Given the description of an element on the screen output the (x, y) to click on. 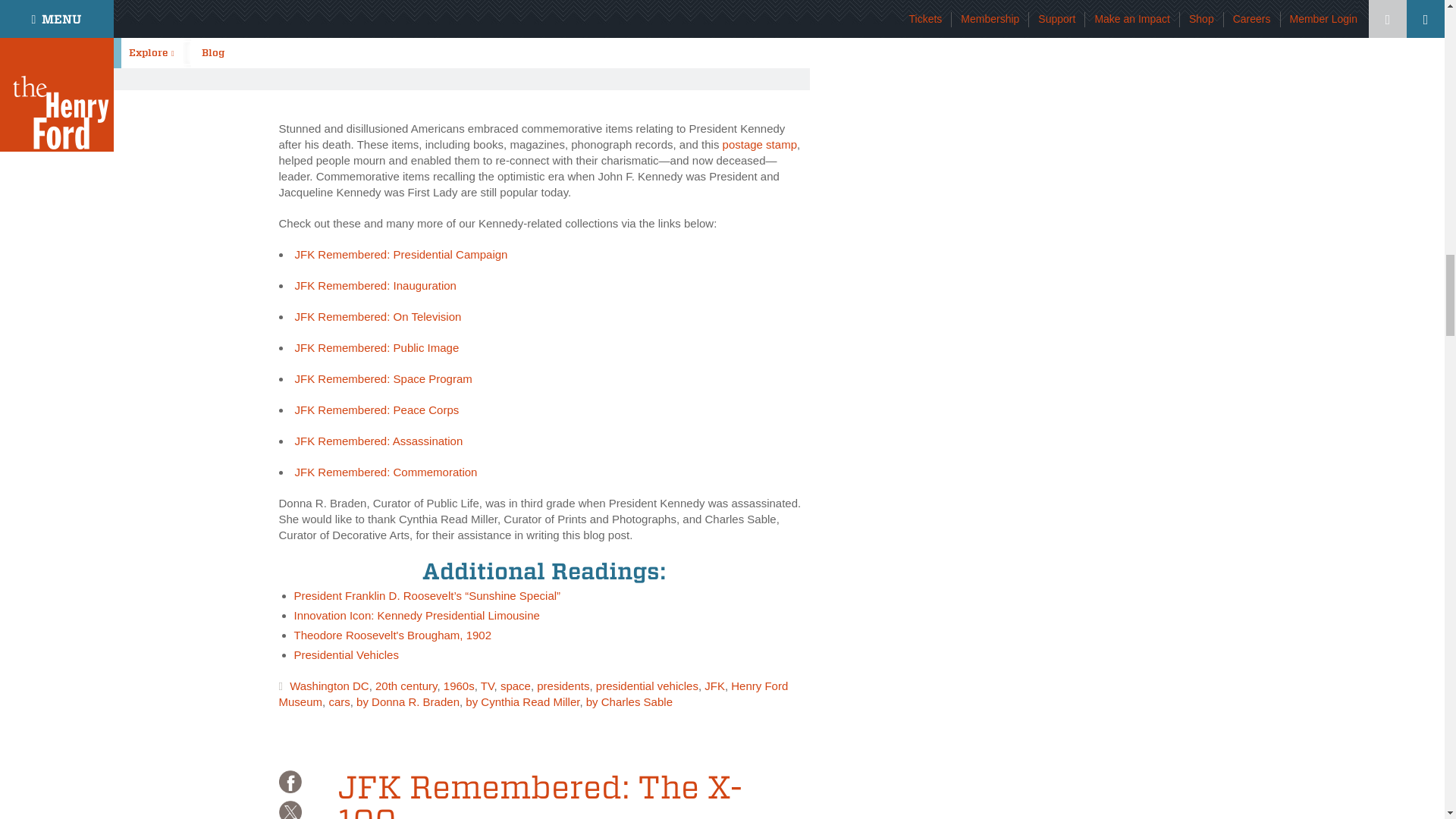
JFK Remembered: On Television (377, 316)
JFK Remembered: Commemoration (385, 472)
JFK Remembered: Public Image (376, 347)
JFK Remembered: Presidential Campaign (400, 254)
JFK Remembered: Assassination (378, 440)
Postage Stamp (759, 144)
JFK Remembered: Inauguration (374, 285)
JFK Remembered: Peace Corps (376, 409)
JFK Remembered: Space Program (382, 378)
